Given the description of an element on the screen output the (x, y) to click on. 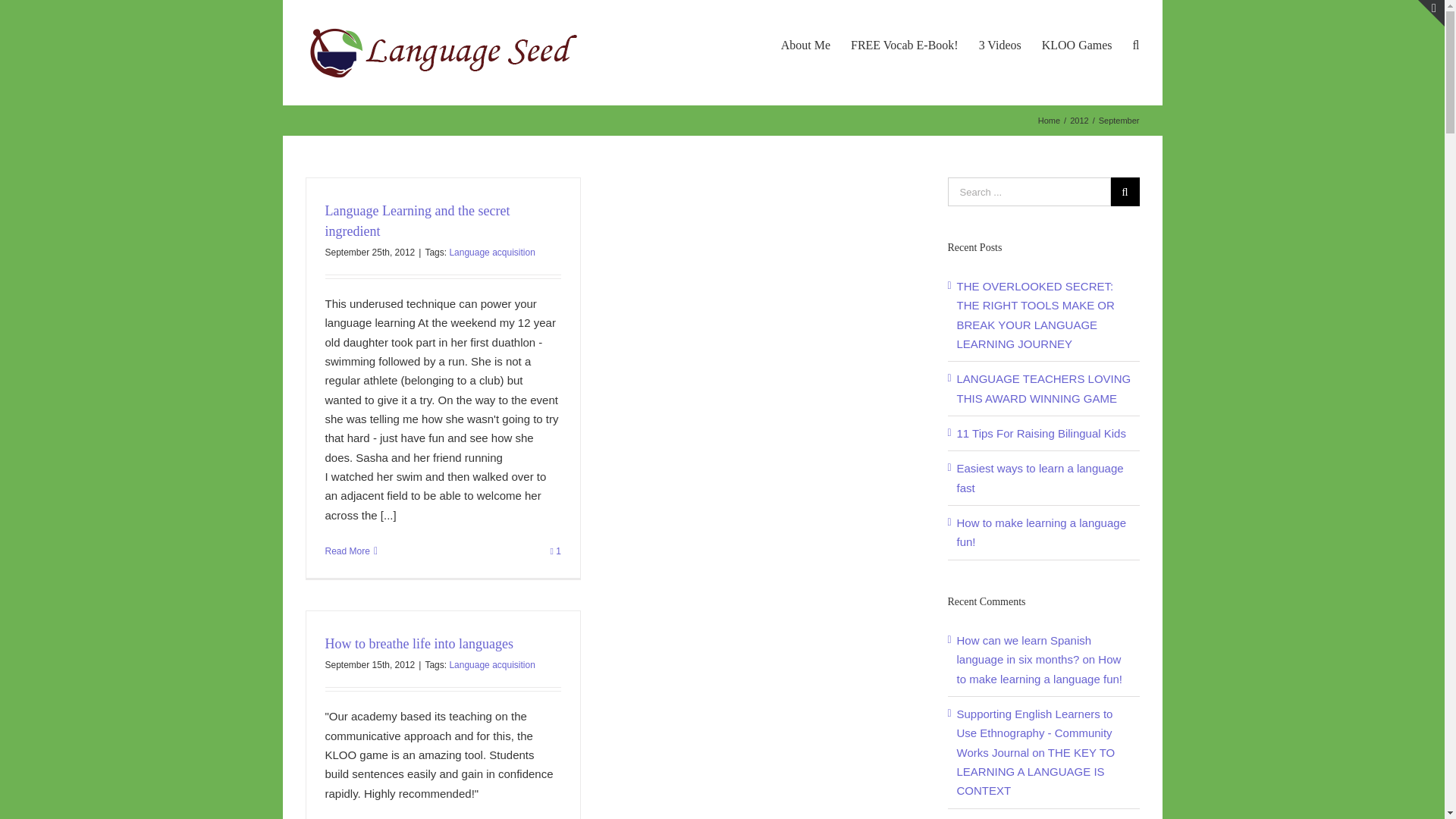
How can we learn Spanish language in six months? (1024, 649)
Easiest ways to learn a language fast (1040, 477)
Home (1048, 120)
Read More (346, 551)
How to make learning a language fun! (1039, 668)
Language acquisition (491, 665)
FREE Vocab E-Book! (904, 44)
Language acquisition (491, 252)
LANGUAGE TEACHERS LOVING THIS AWARD WINNING GAME (1043, 388)
2012 (1078, 120)
